Given the description of an element on the screen output the (x, y) to click on. 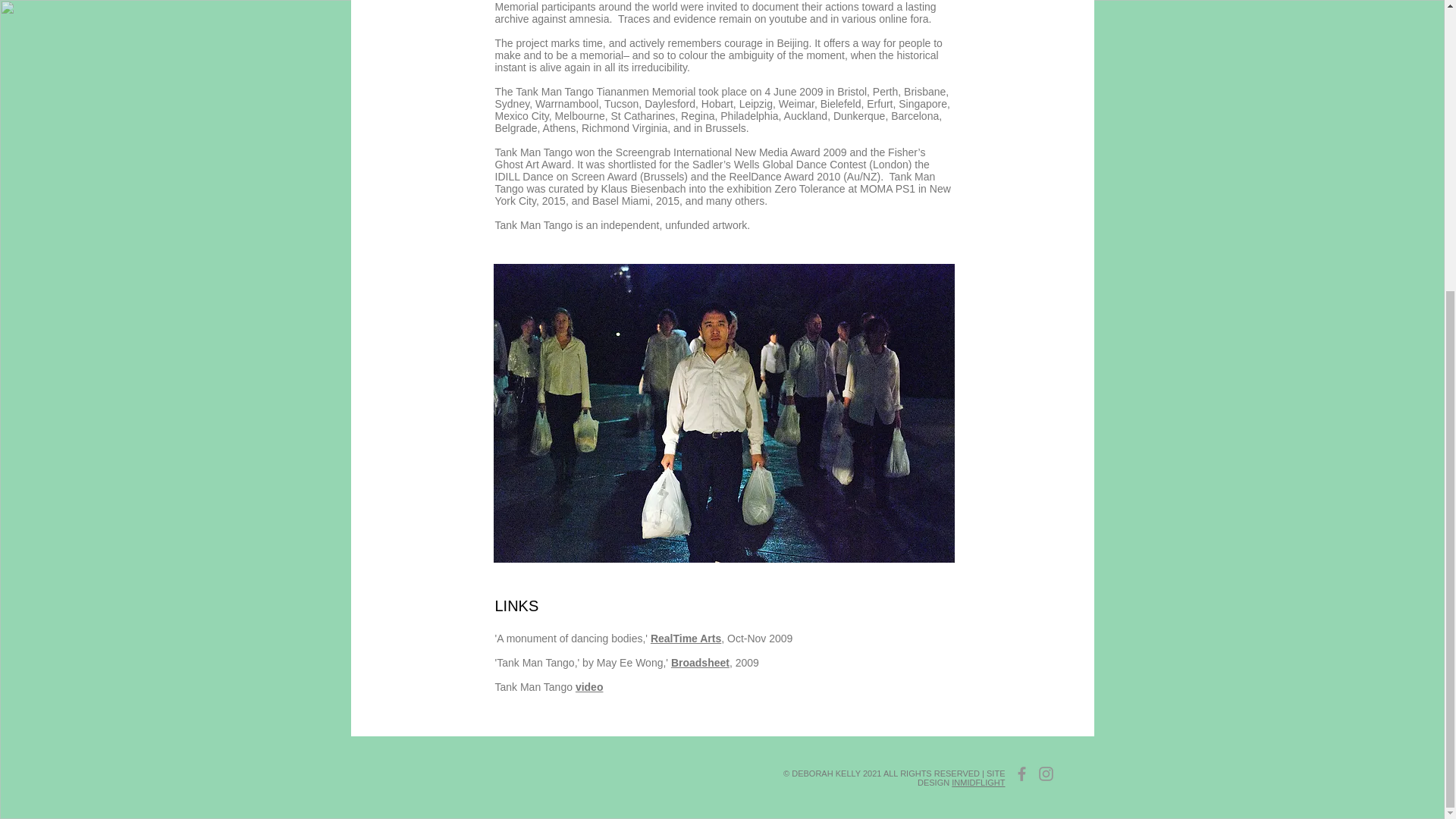
RealTime Arts (685, 638)
INMIDFLIGHT (978, 782)
Broadsheet (700, 662)
video (589, 686)
